Given the description of an element on the screen output the (x, y) to click on. 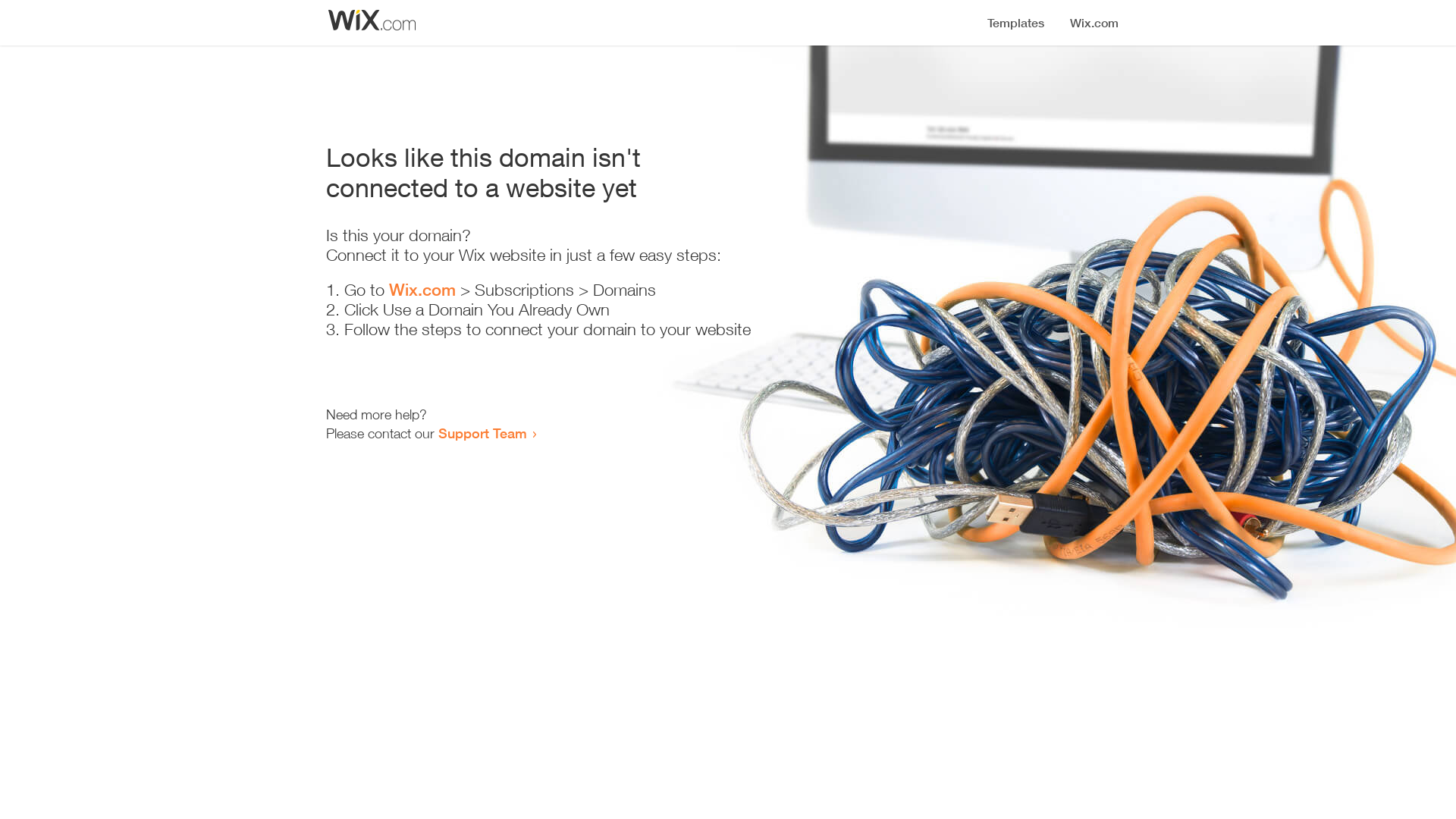
Support Team Element type: text (482, 432)
Wix.com Element type: text (422, 289)
